Given the description of an element on the screen output the (x, y) to click on. 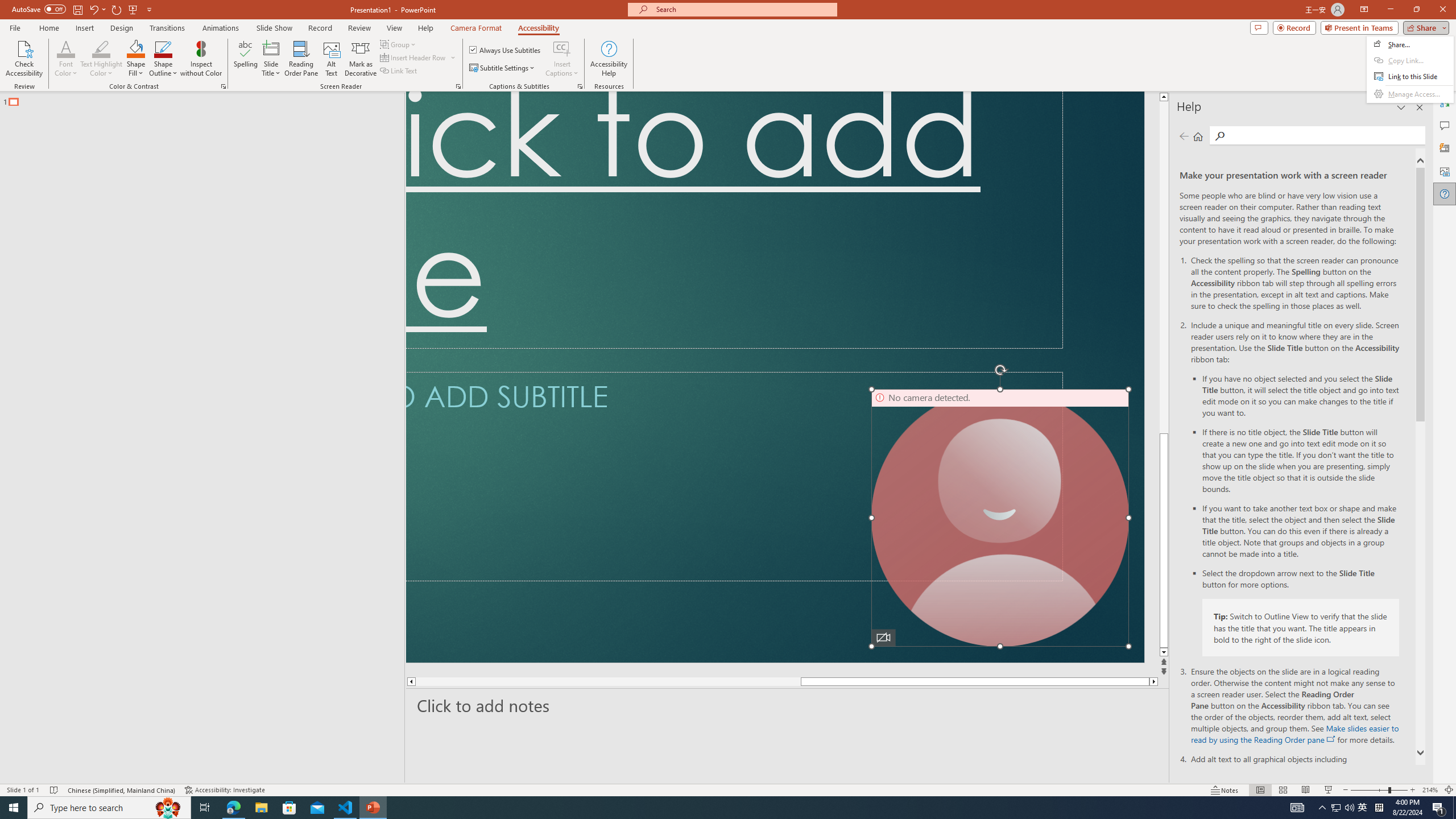
Mark as Decorative (360, 58)
Reading Order Pane (301, 58)
Decorative Locked (775, 376)
